Given the description of an element on the screen output the (x, y) to click on. 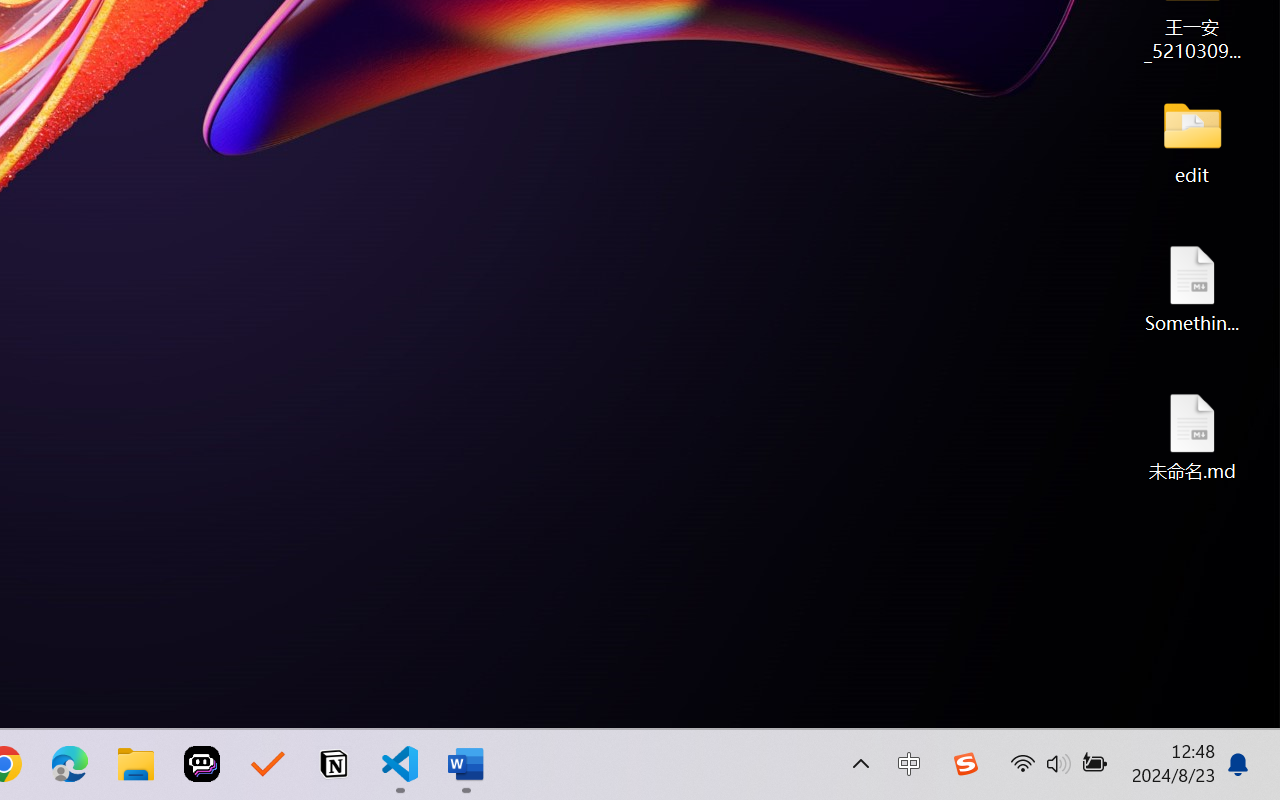
edit (1192, 140)
